Given the description of an element on the screen output the (x, y) to click on. 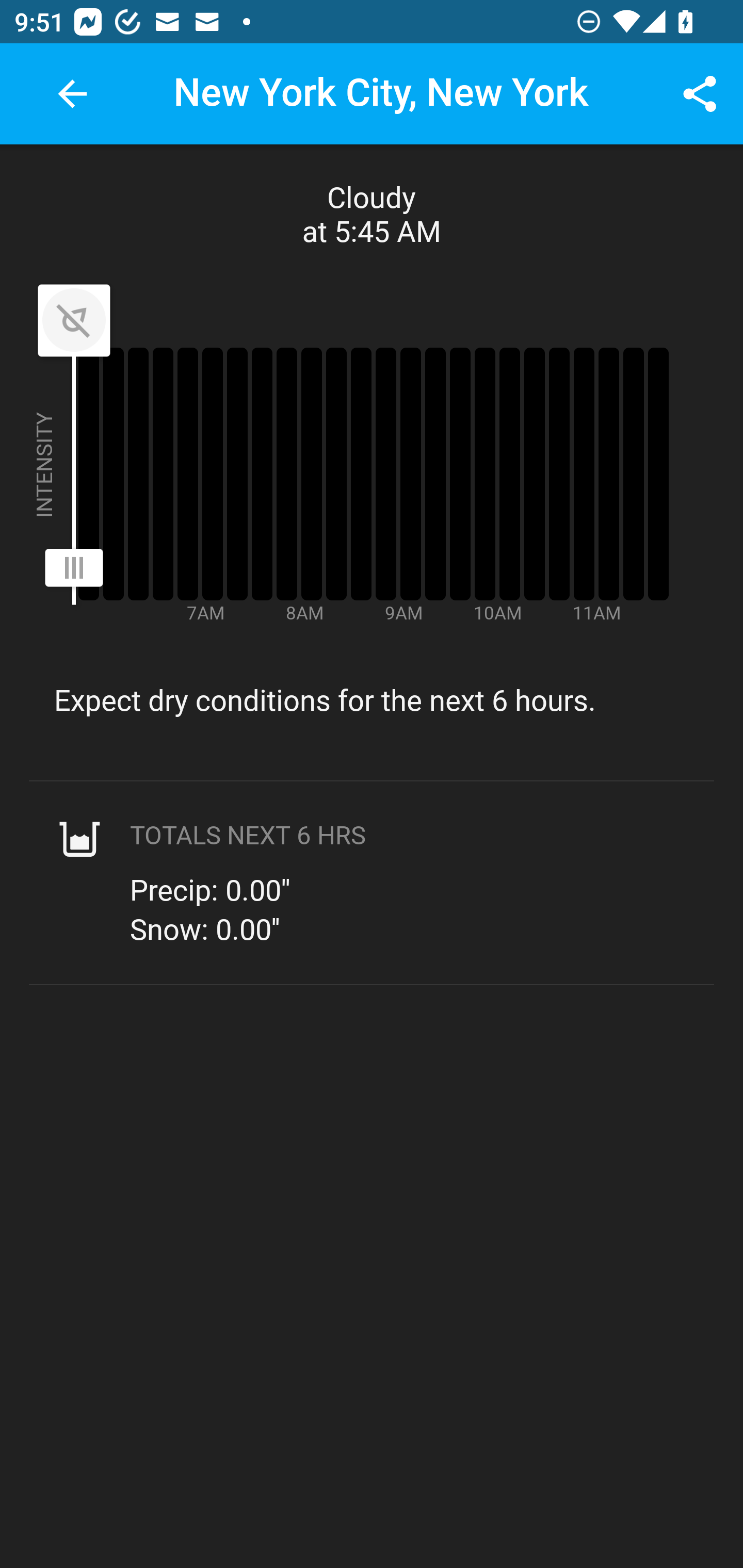
back (71, 93)
Share (699, 93)
